Given the description of an element on the screen output the (x, y) to click on. 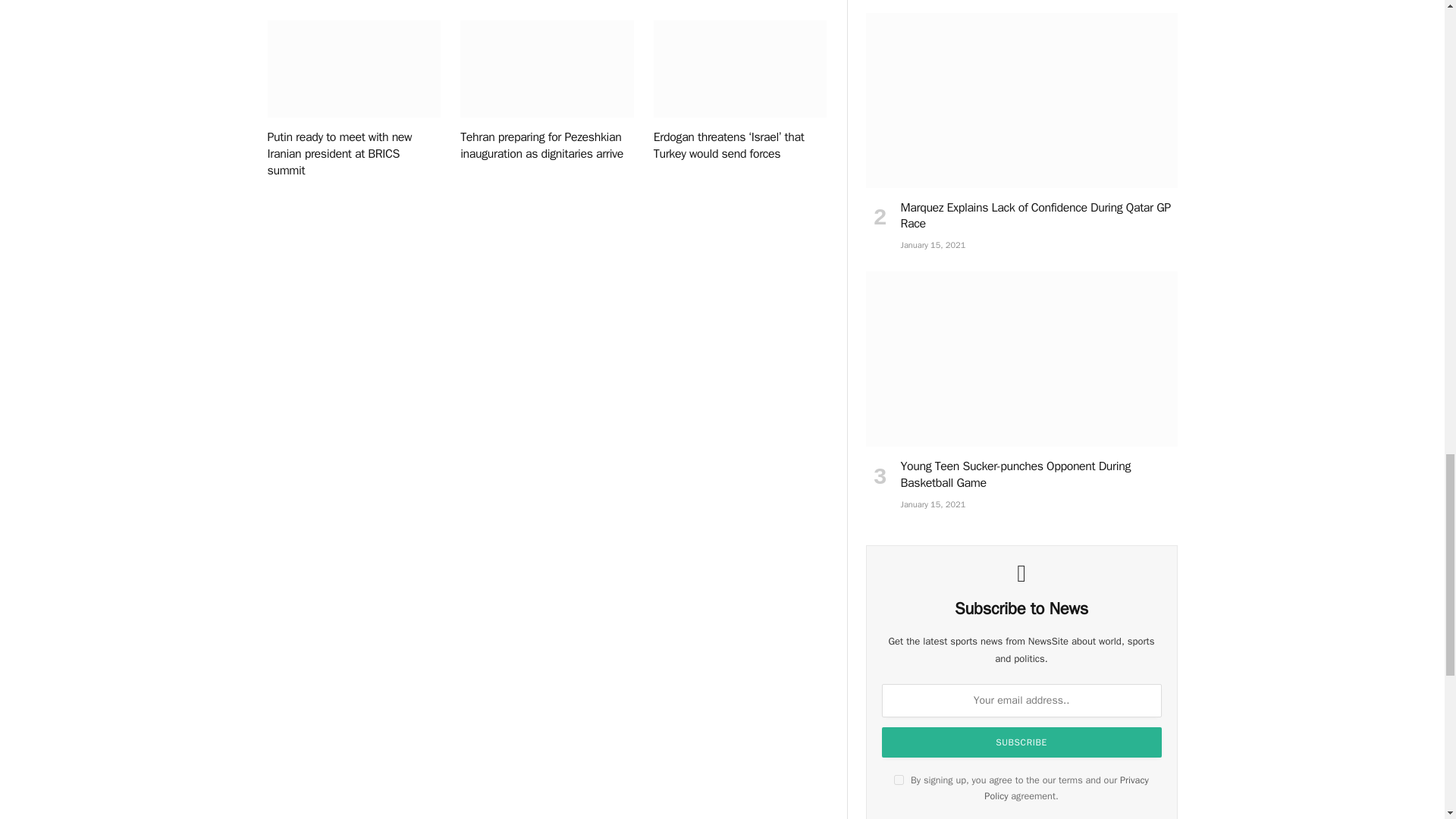
on (898, 779)
Subscribe (1021, 742)
